Given the description of an element on the screen output the (x, y) to click on. 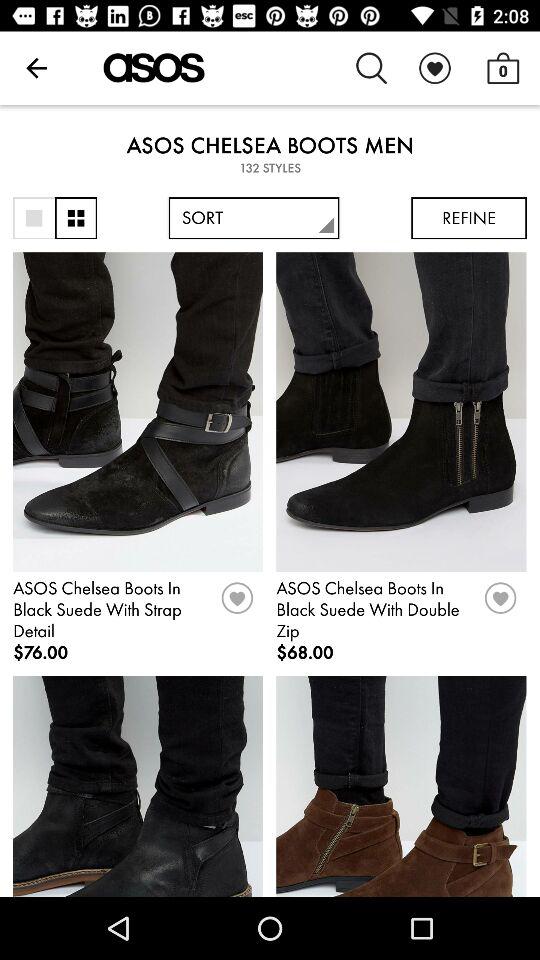
sort by window (34, 218)
